Given the description of an element on the screen output the (x, y) to click on. 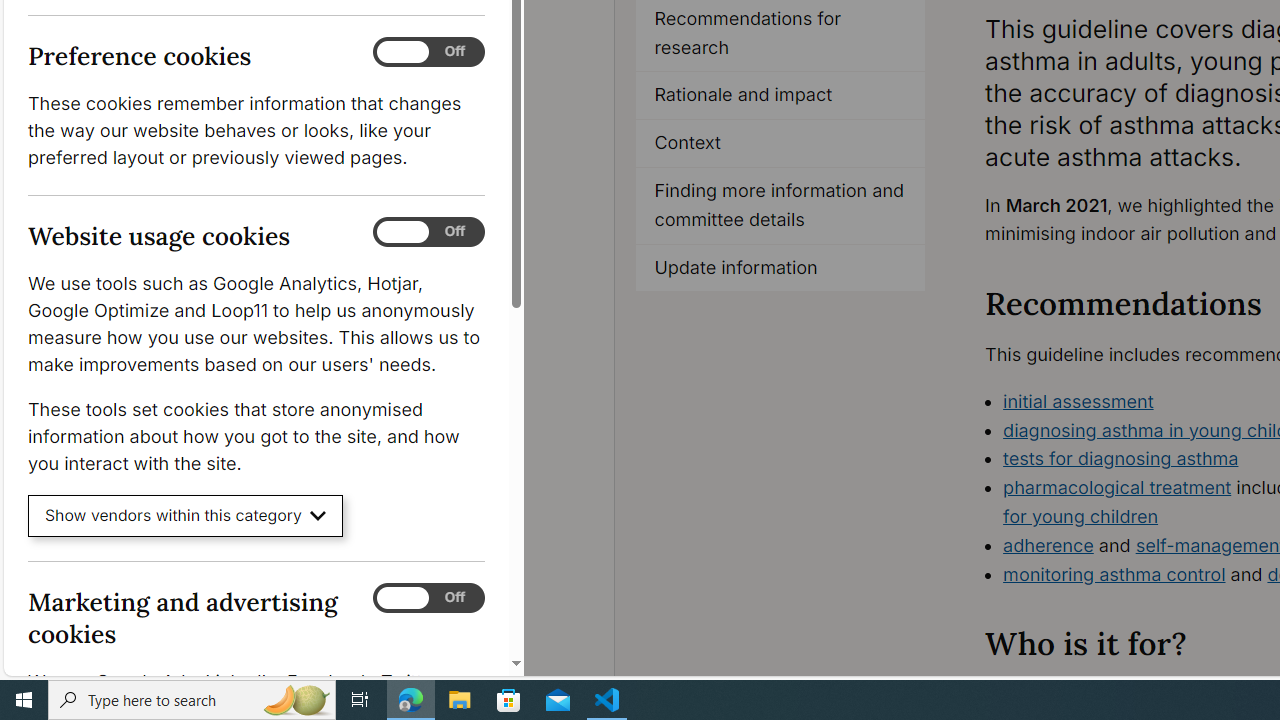
Update information (780, 268)
Show vendors within this category (185, 516)
Marketing and advertising cookies (429, 597)
